Given the description of an element on the screen output the (x, y) to click on. 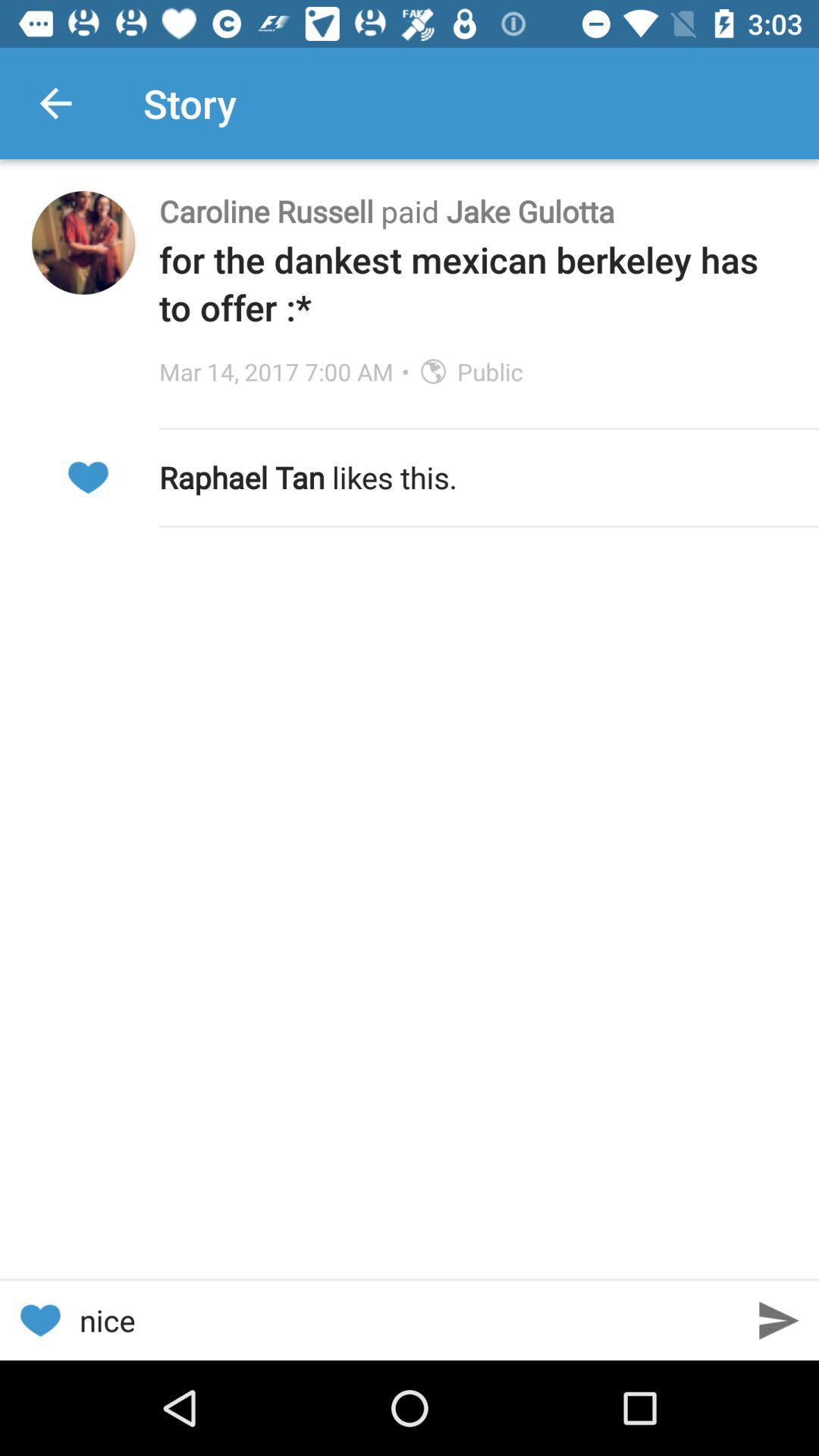
turn on the item at the bottom right corner (779, 1320)
